Given the description of an element on the screen output the (x, y) to click on. 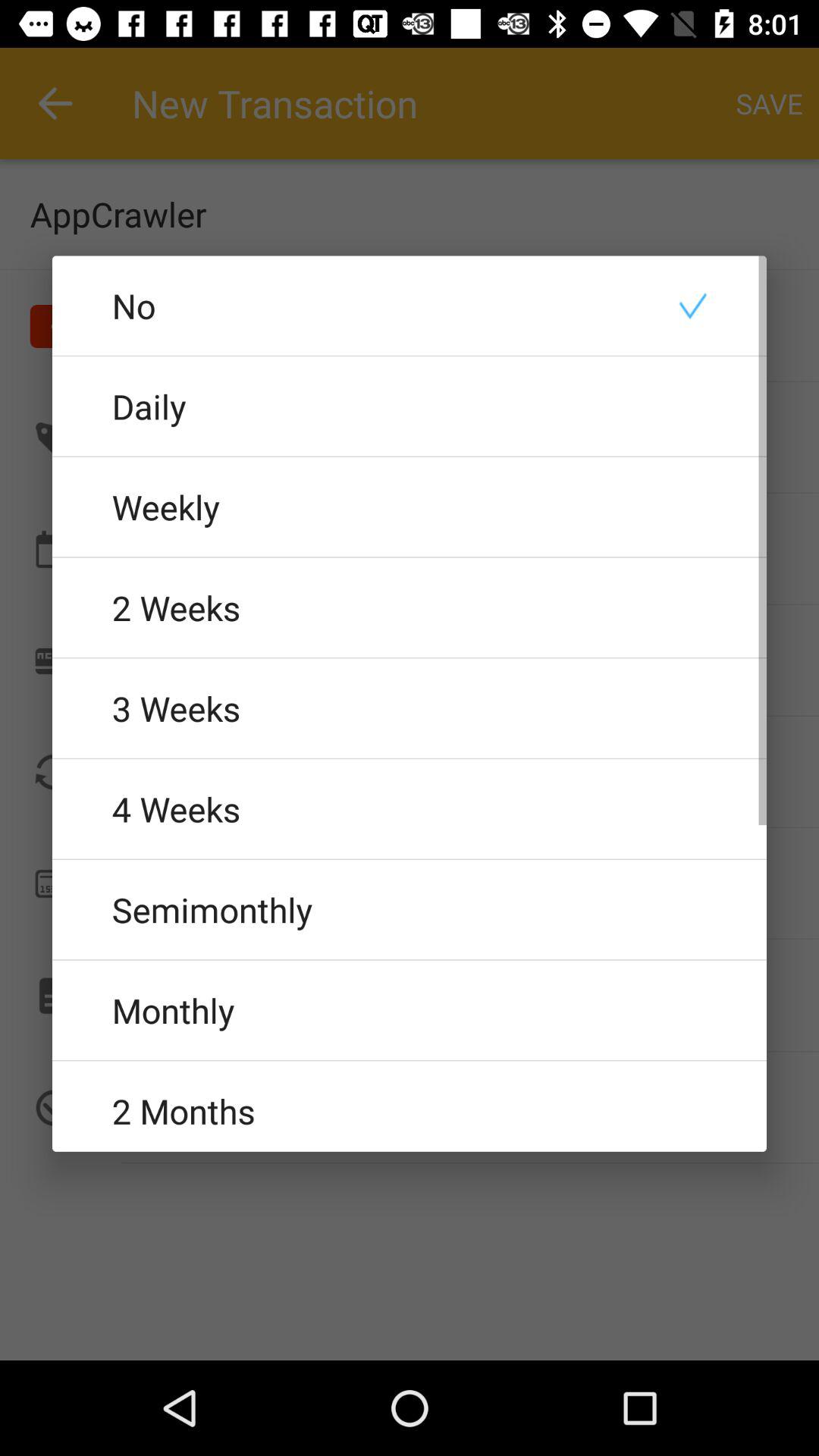
turn off the 2 weeks icon (409, 607)
